Given the description of an element on the screen output the (x, y) to click on. 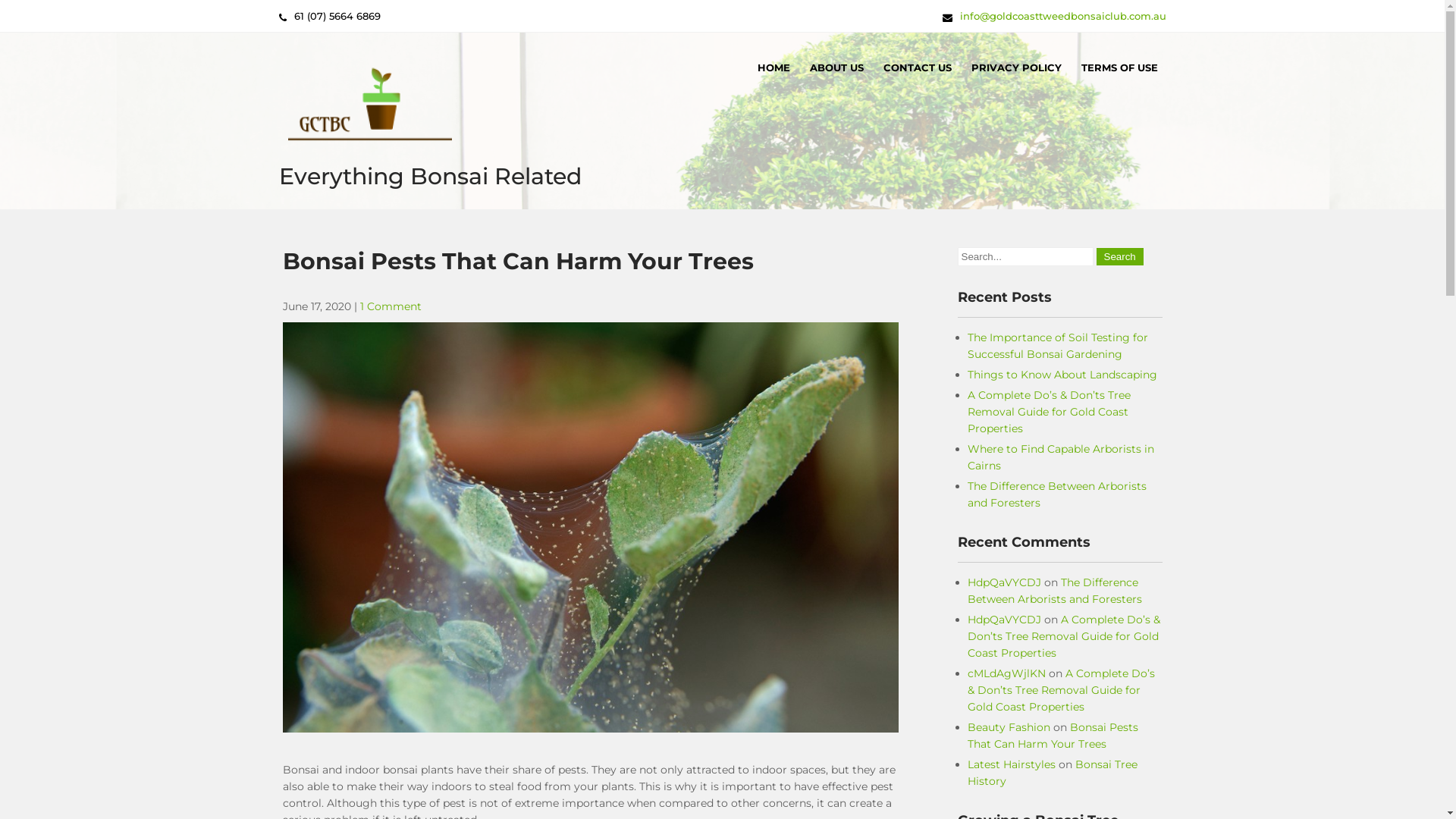
cMLdAgWjlKN Element type: text (1006, 673)
HdpQaVYCDJ Element type: text (1004, 619)
Search Element type: text (1119, 256)
Beauty Fashion Element type: text (1008, 727)
Everything Bonsai Related Element type: text (430, 176)
Bonsai Pests That Can Harm Your Trees Element type: text (1052, 735)
HOME Element type: text (773, 67)
HdpQaVYCDJ Element type: text (1004, 582)
1 Comment Element type: text (389, 306)
Things to Know About Landscaping Element type: text (1062, 374)
PRIVACY POLICY Element type: text (1016, 67)
Latest Hairstyles Element type: text (1011, 764)
ABOUT US Element type: text (835, 67)
The Difference Between Arborists and Foresters Element type: text (1054, 590)
Bonsai Tree History Element type: text (1052, 772)
Where to Find Capable Arborists in Cairns Element type: text (1060, 457)
TERMS OF USE Element type: text (1118, 67)
CONTACT US Element type: text (917, 67)
info@goldcoasttweedbonsaiclub.com.au Element type: text (1063, 15)
The Difference Between Arborists and Foresters Element type: text (1056, 494)
